Given the description of an element on the screen output the (x, y) to click on. 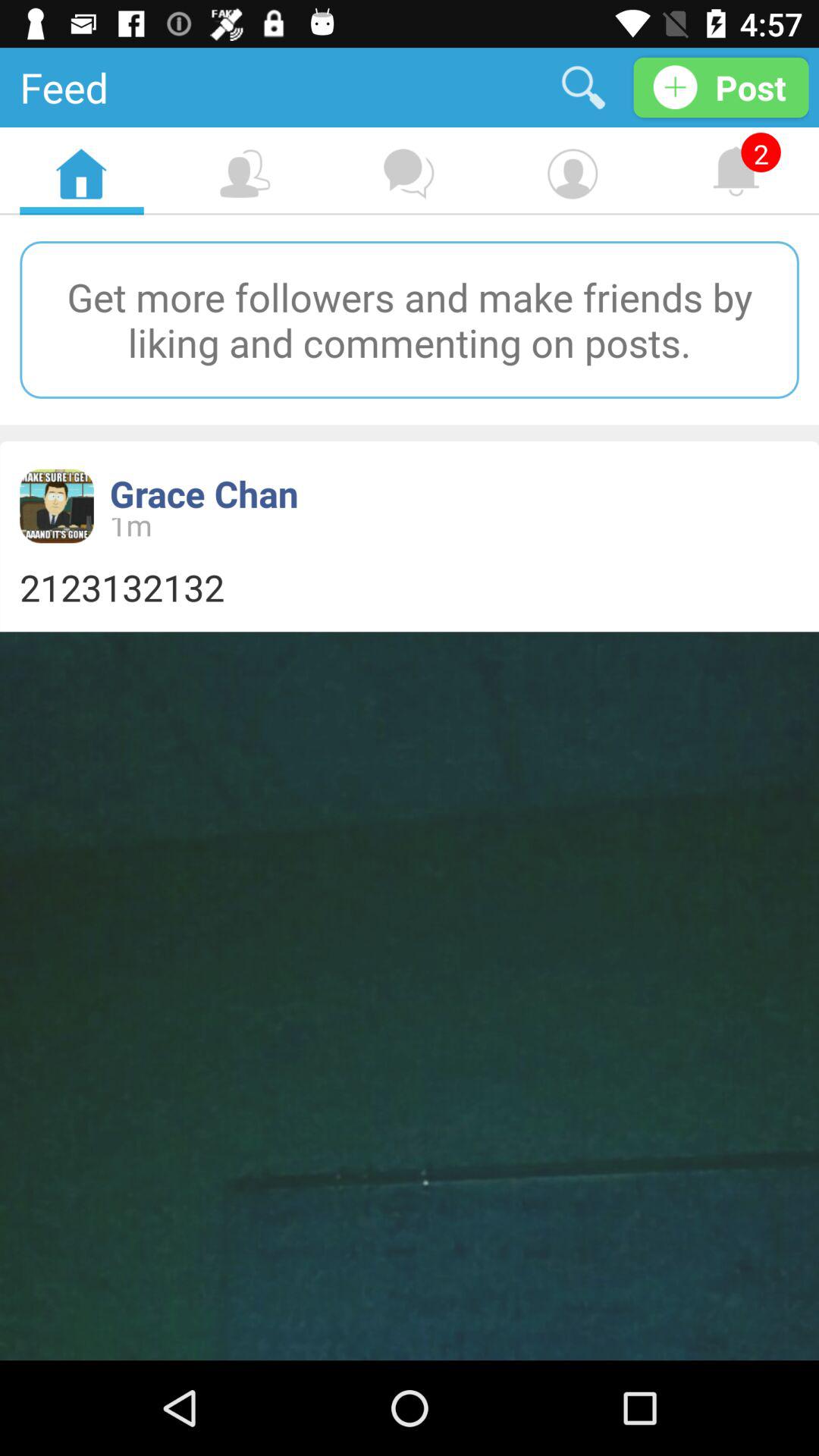
choose icon above 2 (720, 87)
